Given the description of an element on the screen output the (x, y) to click on. 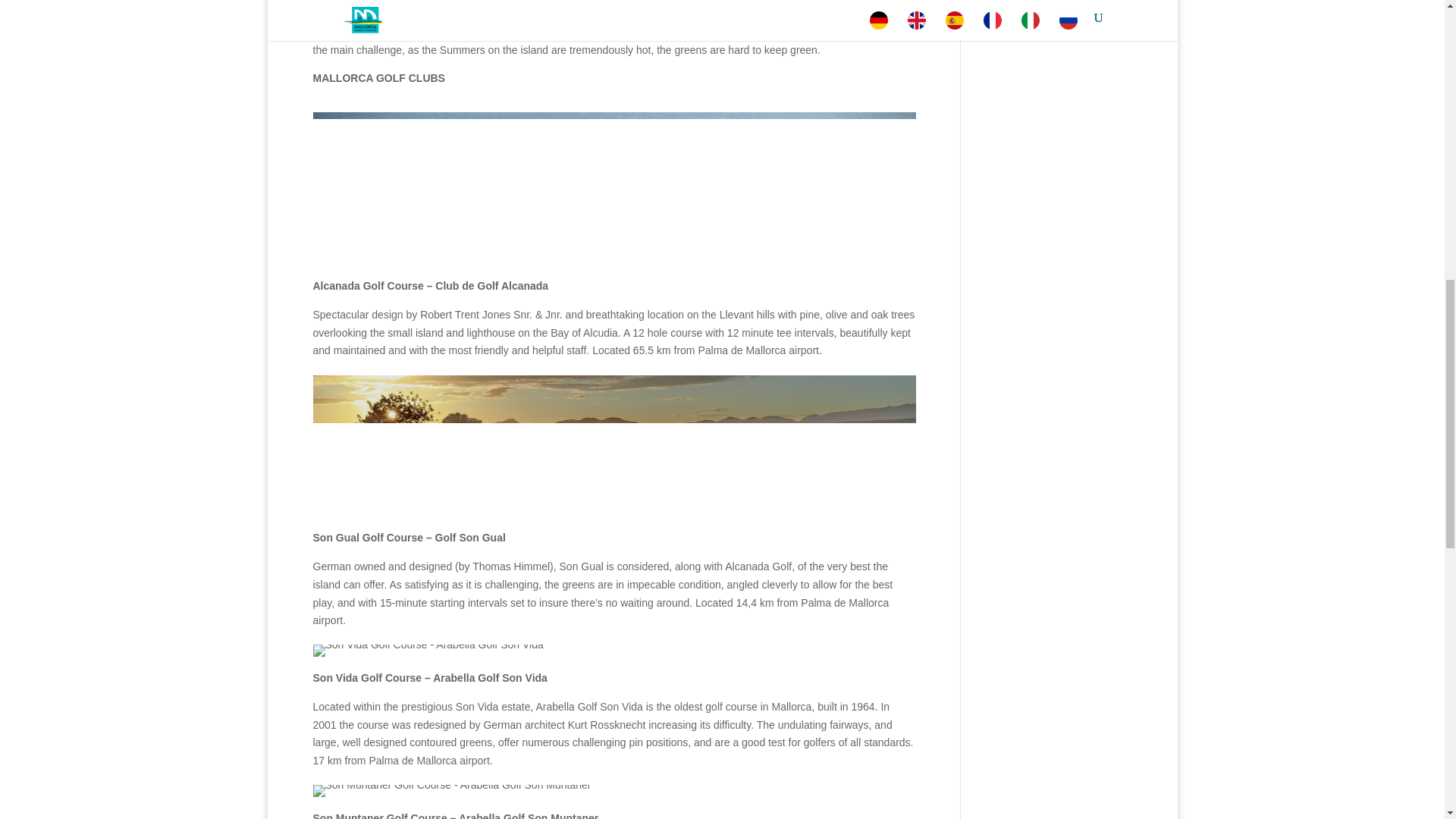
son-vida (428, 650)
alcanada (614, 188)
sonmuntaner (452, 790)
son-gual (614, 445)
